Given the description of an element on the screen output the (x, y) to click on. 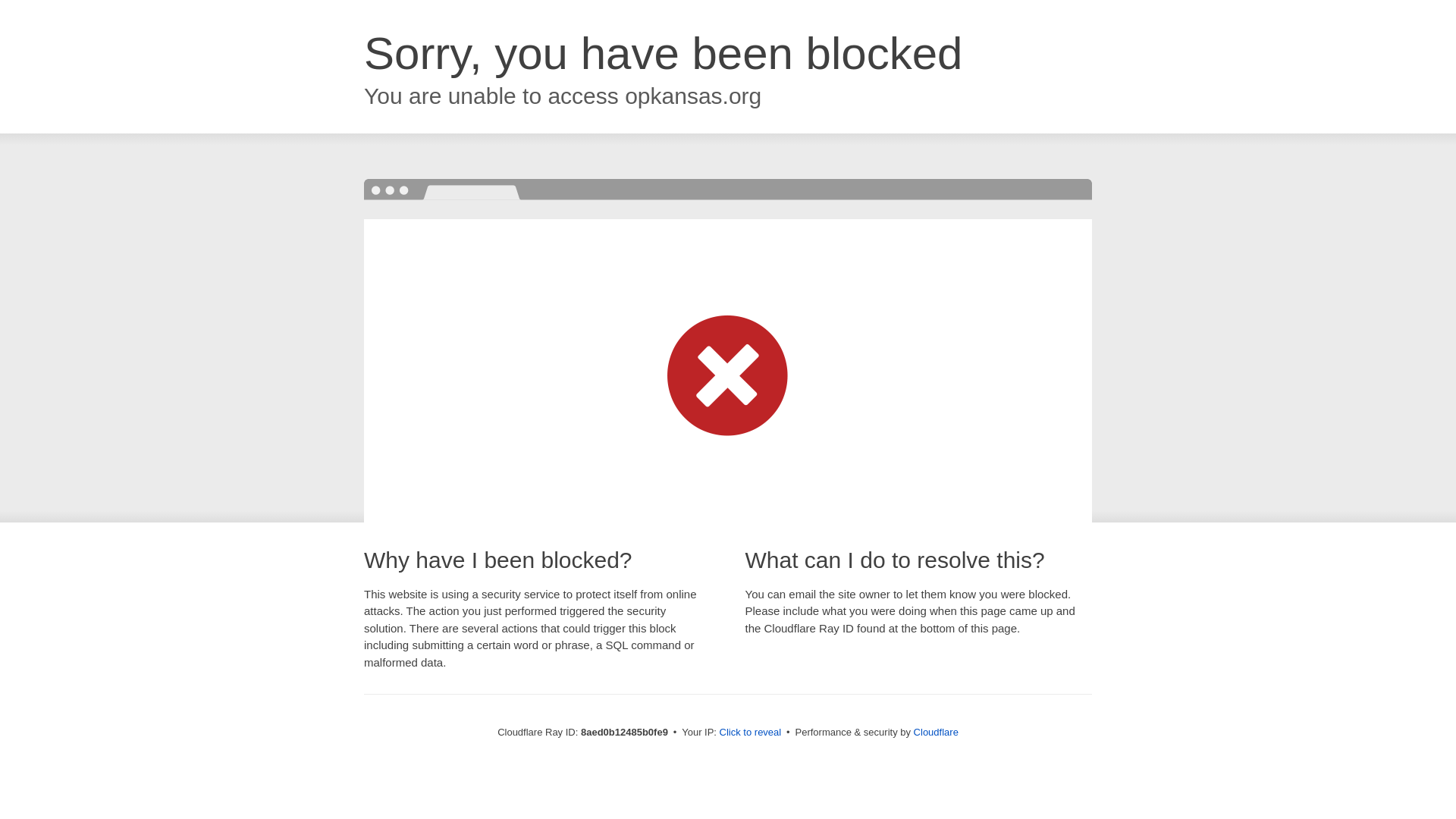
Cloudflare (936, 731)
Click to reveal (750, 732)
